Given the description of an element on the screen output the (x, y) to click on. 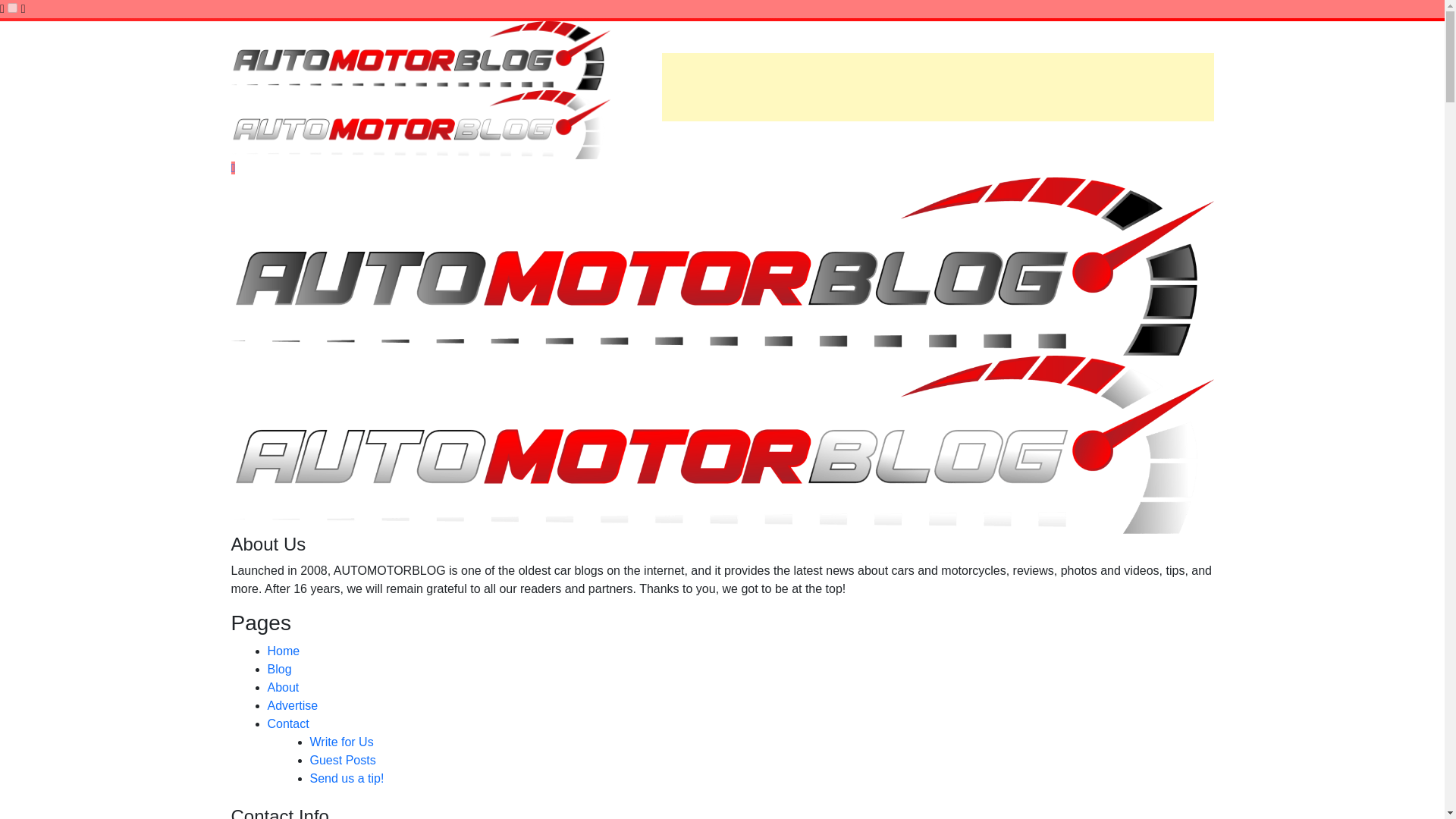
Blog (278, 668)
on (12, 8)
Contact (287, 723)
About (282, 686)
Home (282, 650)
Guest Posts (341, 759)
Send us a tip! (346, 778)
Advertise (291, 705)
Write for Us (340, 741)
